Given the description of an element on the screen output the (x, y) to click on. 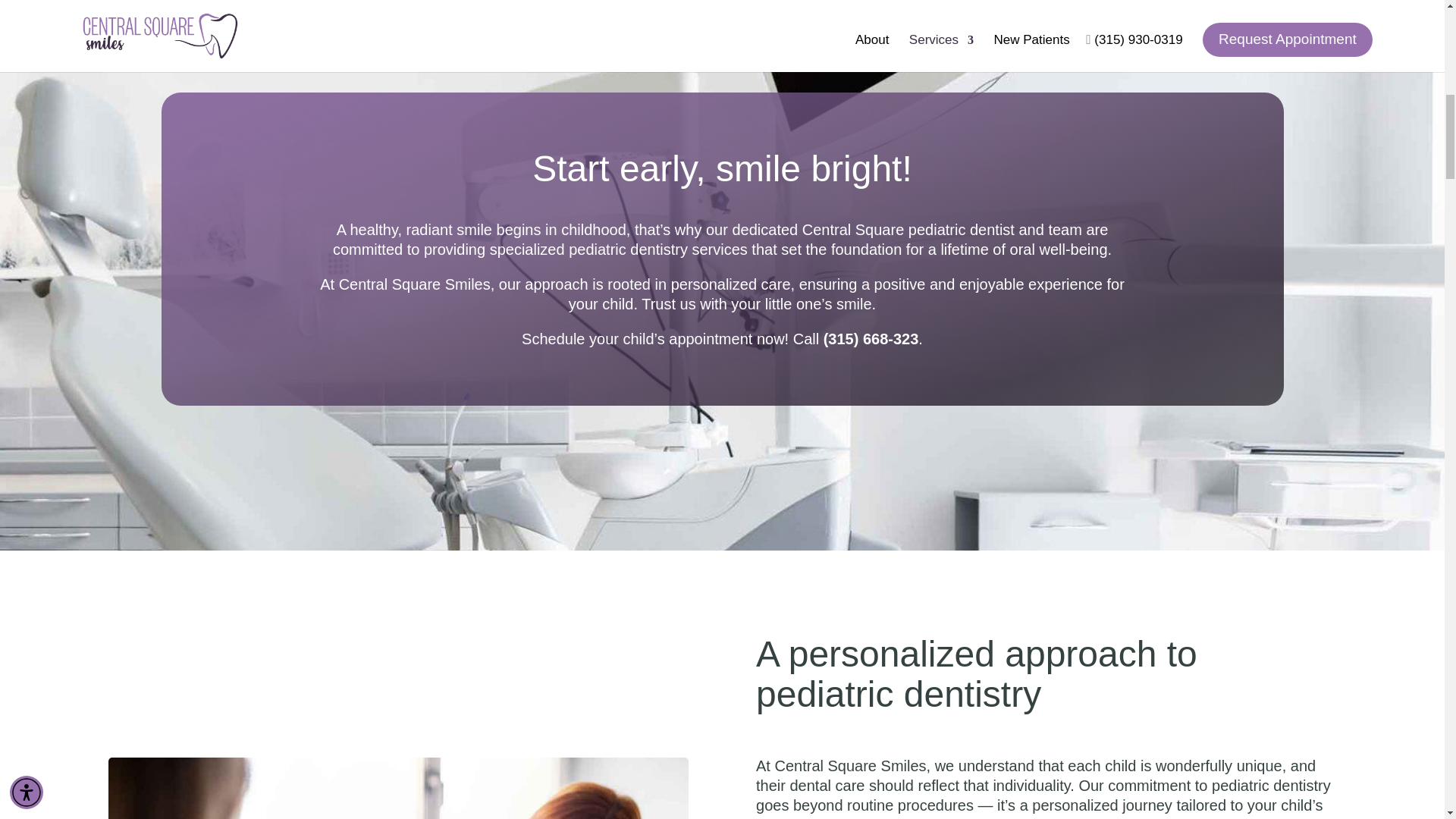
NY central square smiles approach to pediatric dentistry (397, 788)
